Given the description of an element on the screen output the (x, y) to click on. 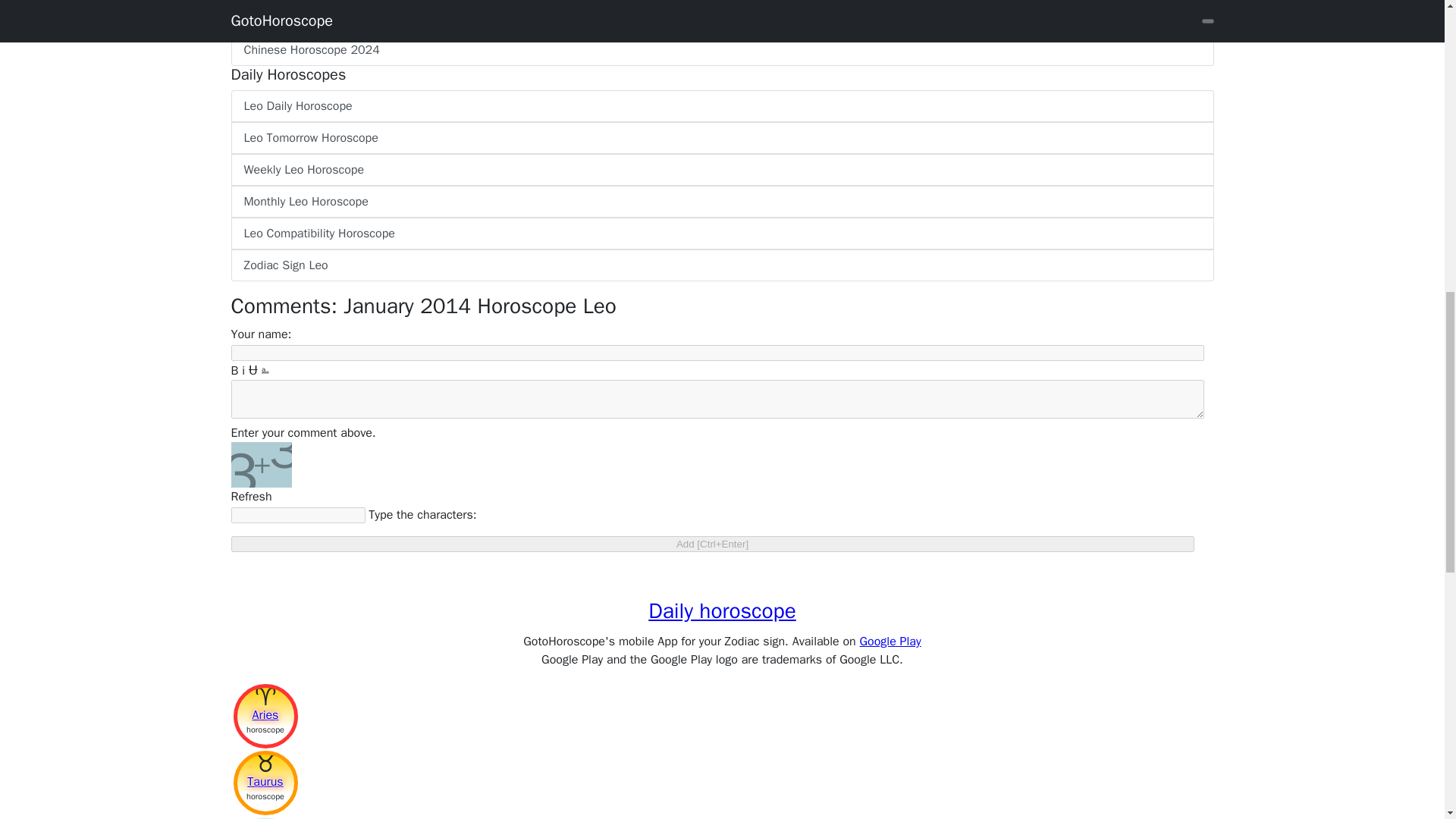
Monthly Leo Horoscope (721, 201)
Weekly Leo Horoscope (721, 169)
Leo Tomorrow Horoscope (721, 137)
Leo Compatibility Horoscope (721, 233)
Horoscope 2024 (721, 18)
Zodiac Sign Leo (721, 265)
Leo Daily Horoscope (721, 106)
Refresh (250, 496)
Chinese Horoscope 2024 (721, 50)
